Given the description of an element on the screen output the (x, y) to click on. 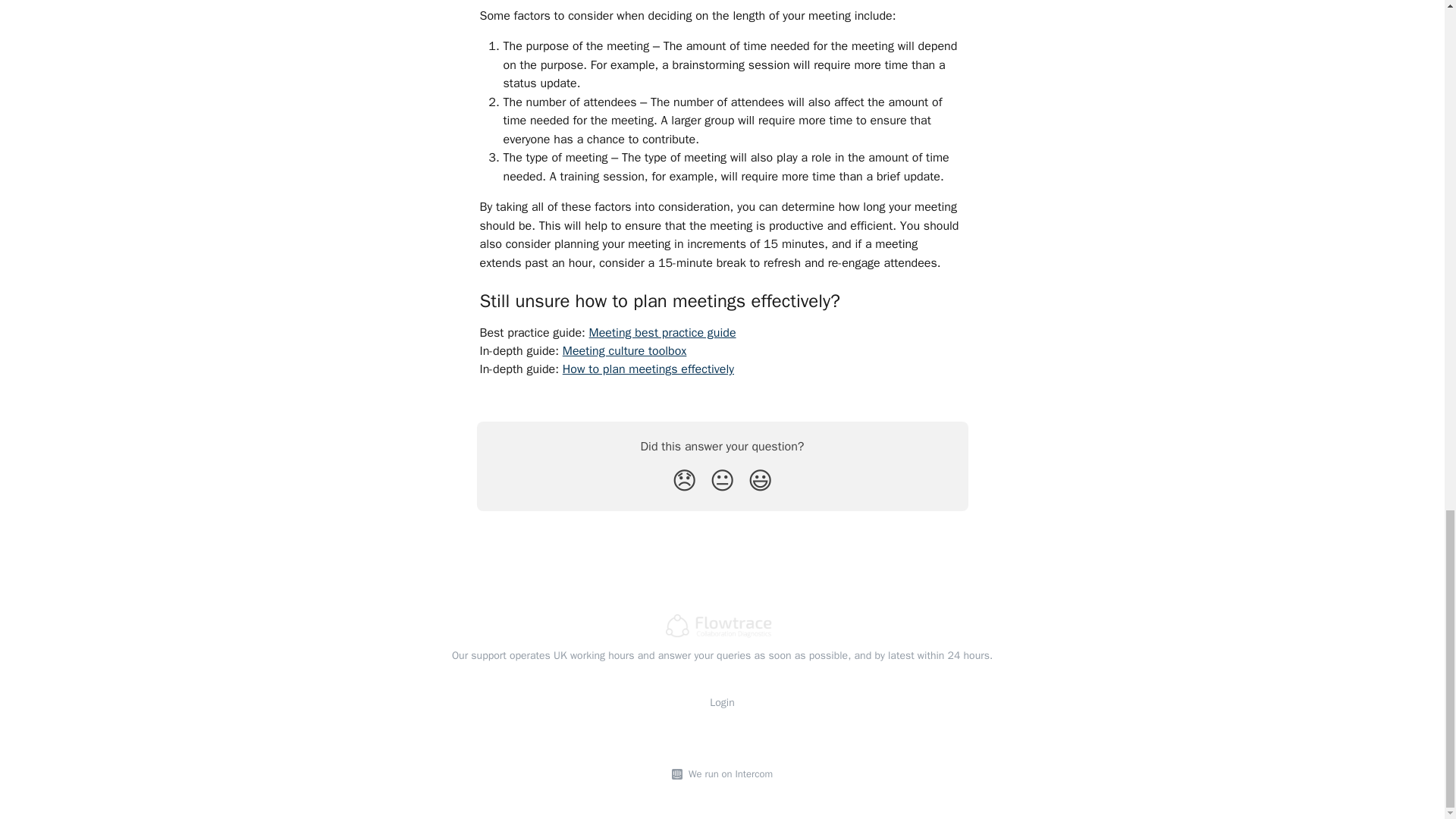
How to plan meetings effectively (647, 368)
Meeting culture toolbox (624, 350)
Login (721, 702)
We run on Intercom (727, 774)
Meeting best practice guide (662, 332)
